Given the description of an element on the screen output the (x, y) to click on. 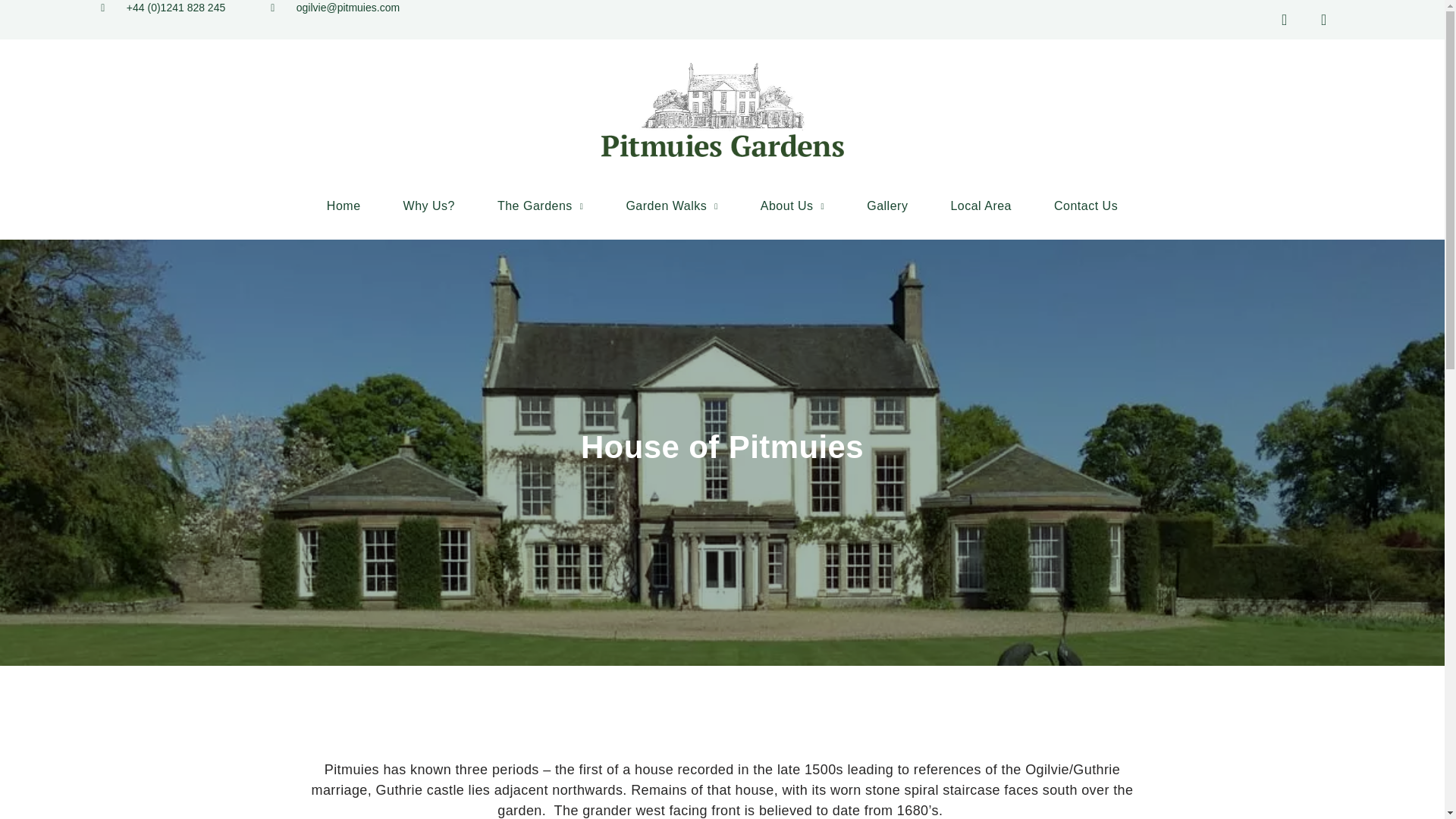
The Gardens (539, 205)
Local Area (980, 205)
Garden Walks (670, 205)
About Us (791, 205)
Gallery (887, 205)
Home (343, 205)
Contact Us (1085, 205)
Why Us? (429, 205)
